Given the description of an element on the screen output the (x, y) to click on. 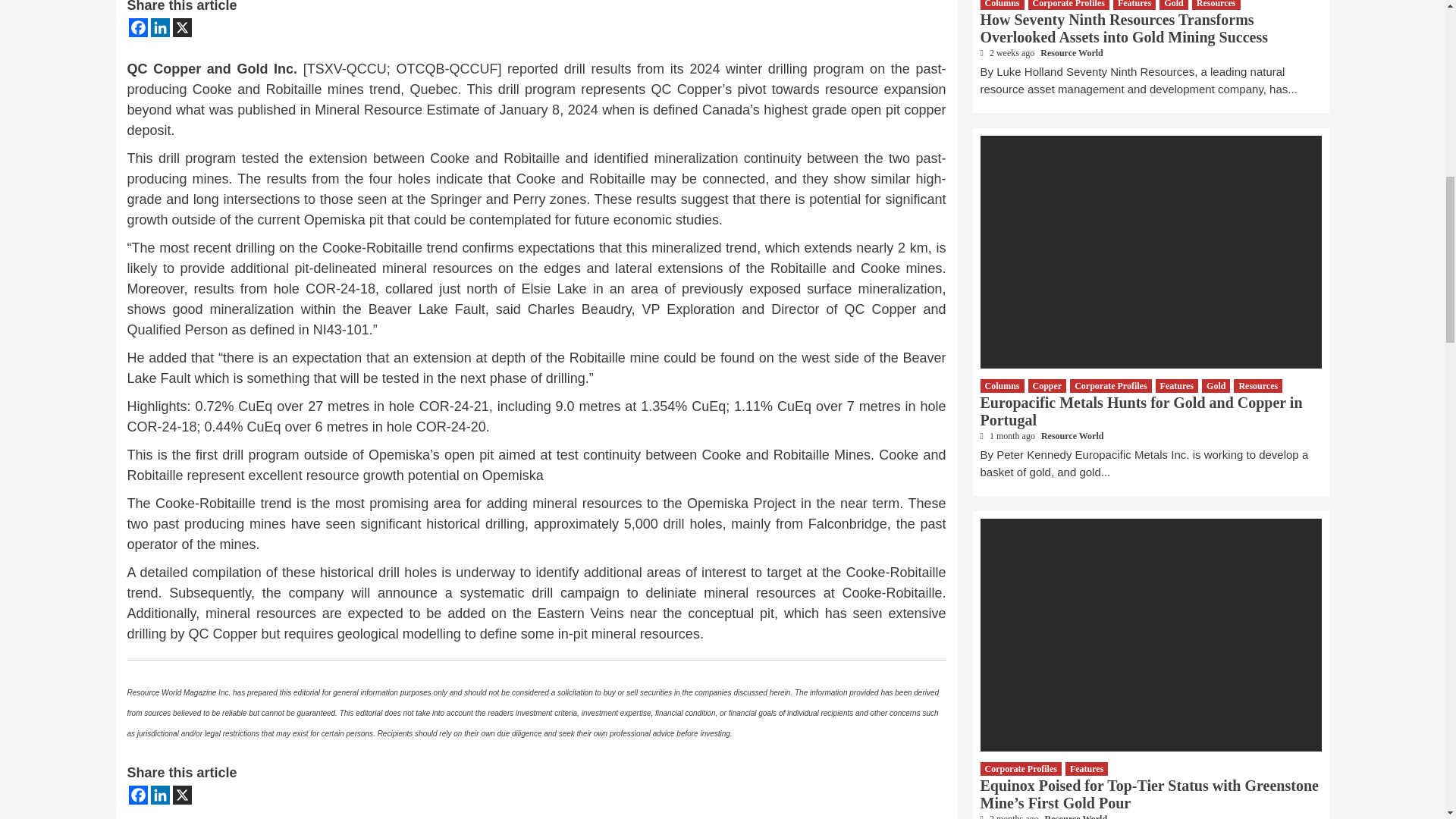
Facebook (138, 27)
X (182, 794)
Linkedin (158, 27)
X (182, 27)
Facebook (138, 794)
Linkedin (158, 794)
